Given the description of an element on the screen output the (x, y) to click on. 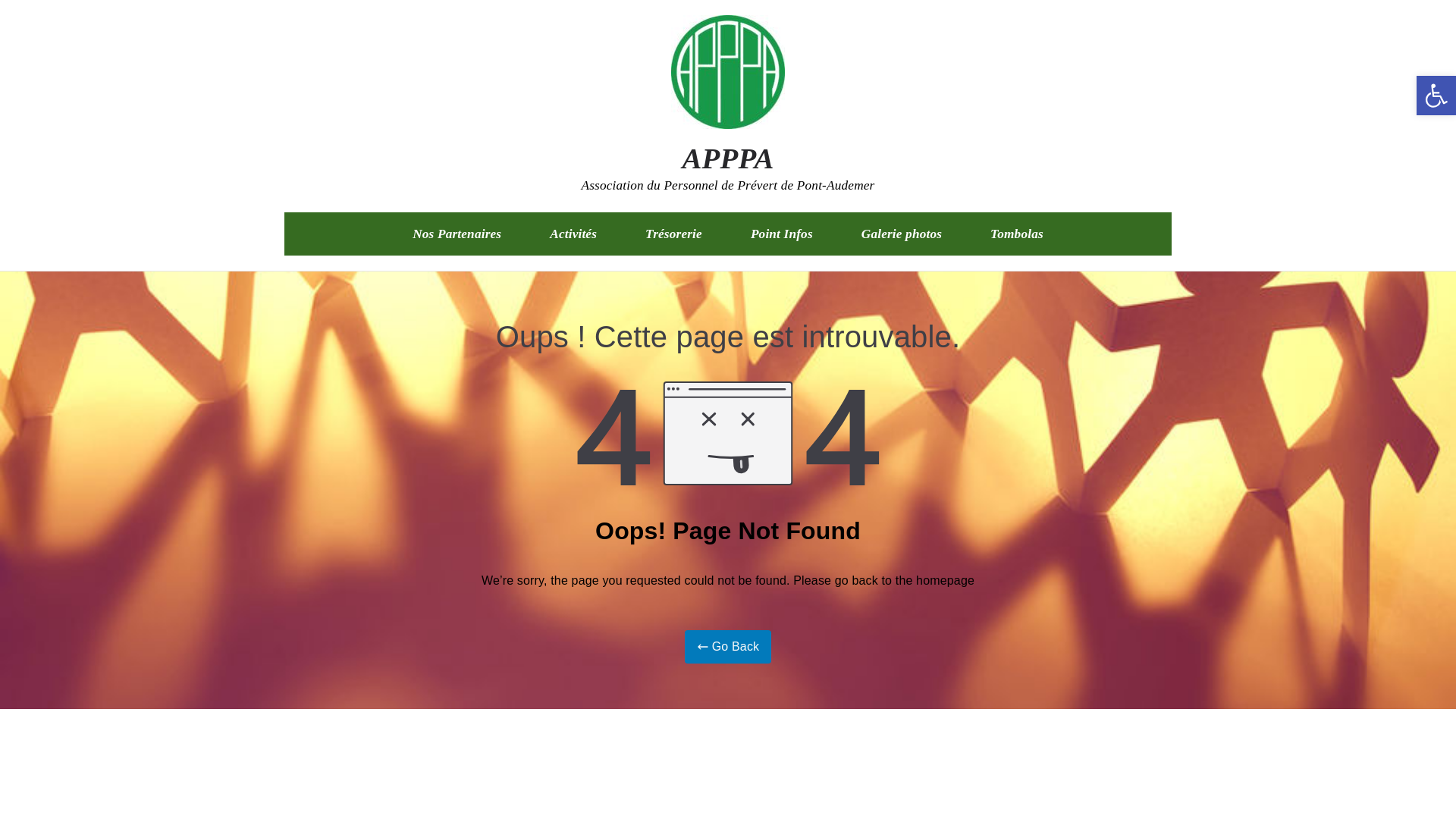
APPPA (727, 157)
Point Infos (781, 233)
Galerie photos (901, 233)
Go Back (727, 646)
Tombolas (1016, 233)
Nos Partenaires (456, 233)
